Given the description of an element on the screen output the (x, y) to click on. 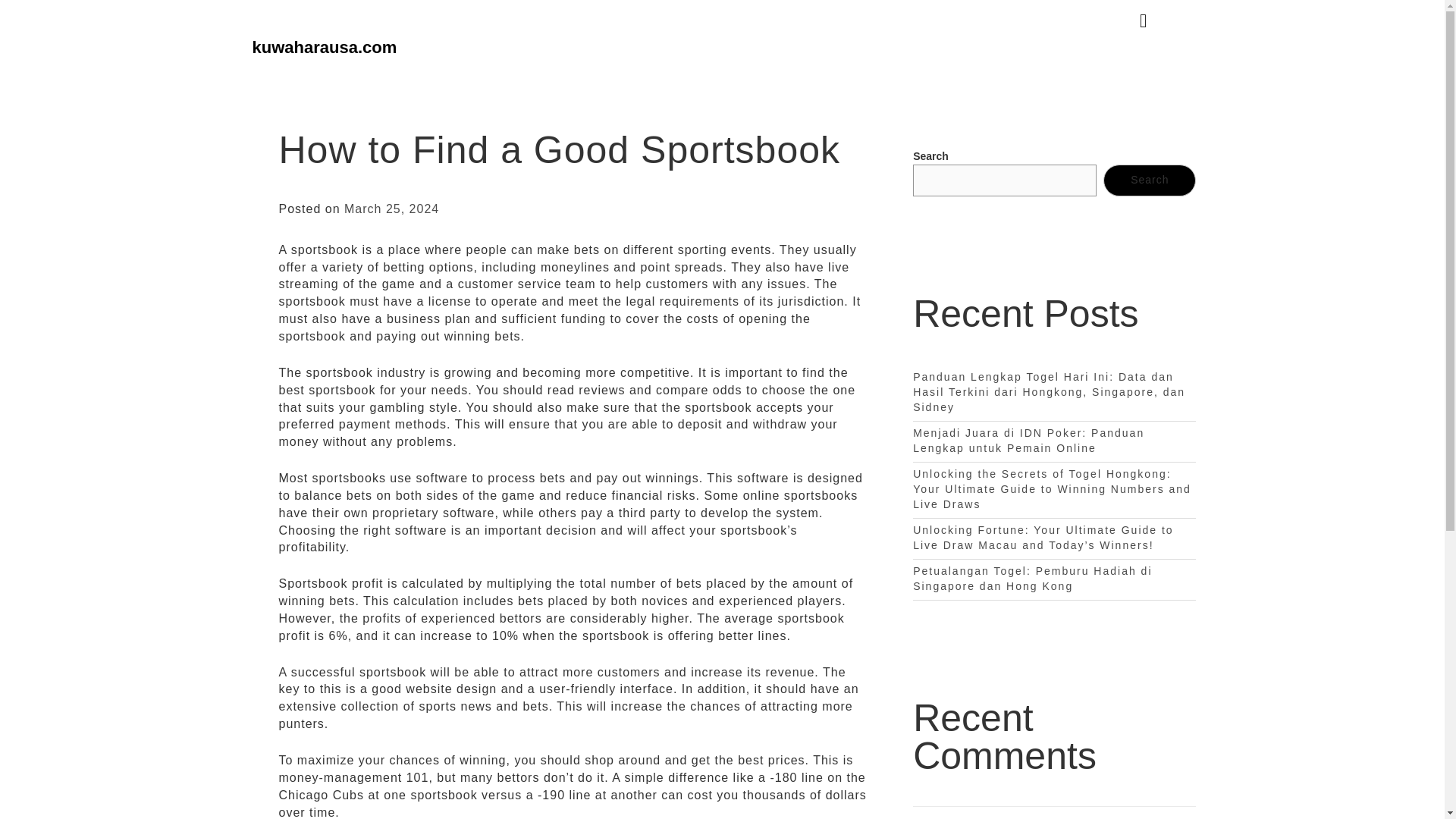
Search (1149, 180)
kuwaharausa.com (323, 46)
Petualangan Togel: Pemburu Hadiah di Singapore dan Hong Kong (1031, 578)
March 25, 2024 (391, 208)
